Given the description of an element on the screen output the (x, y) to click on. 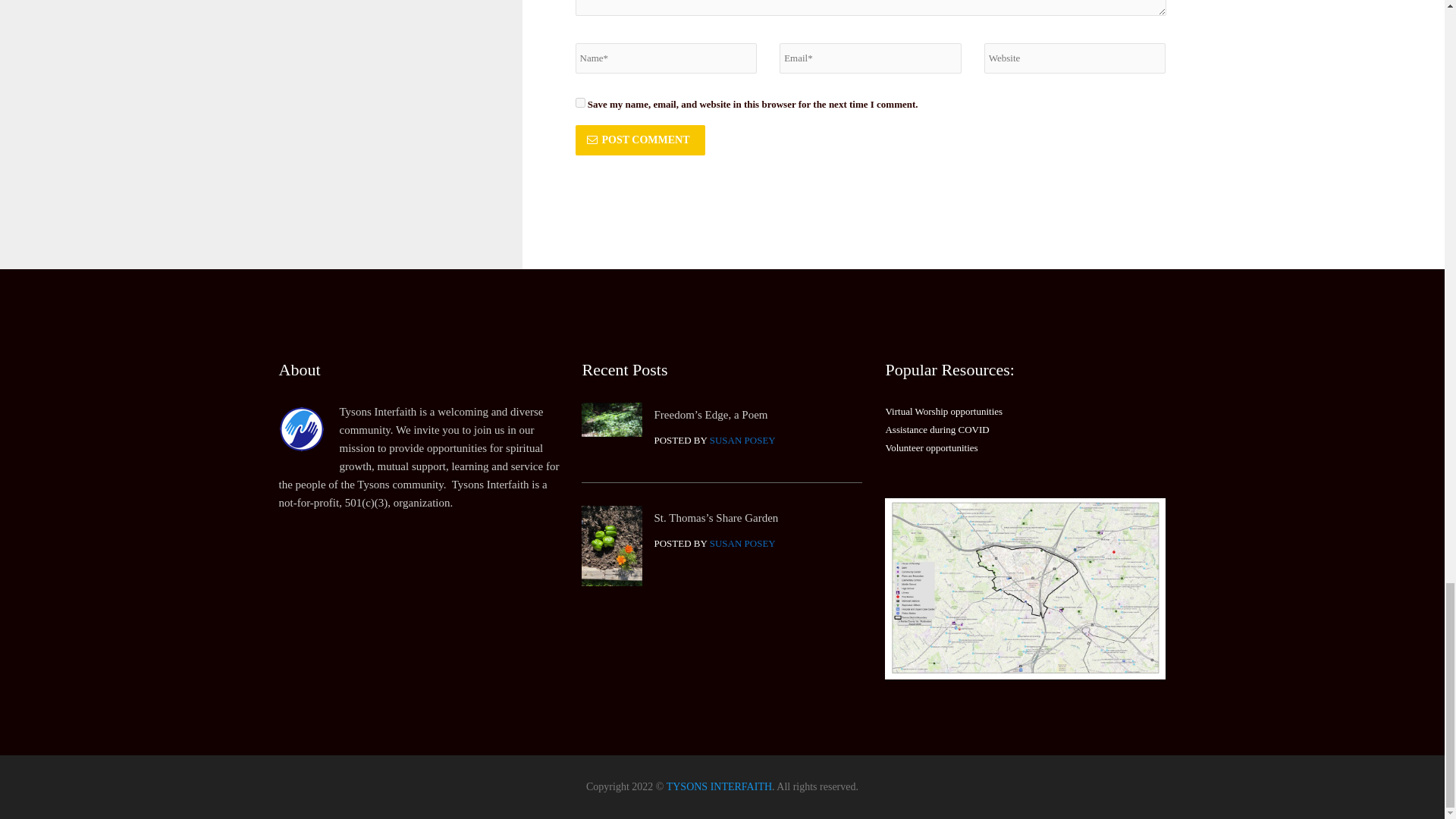
Post Comment (639, 140)
yes (580, 102)
